Given the description of an element on the screen output the (x, y) to click on. 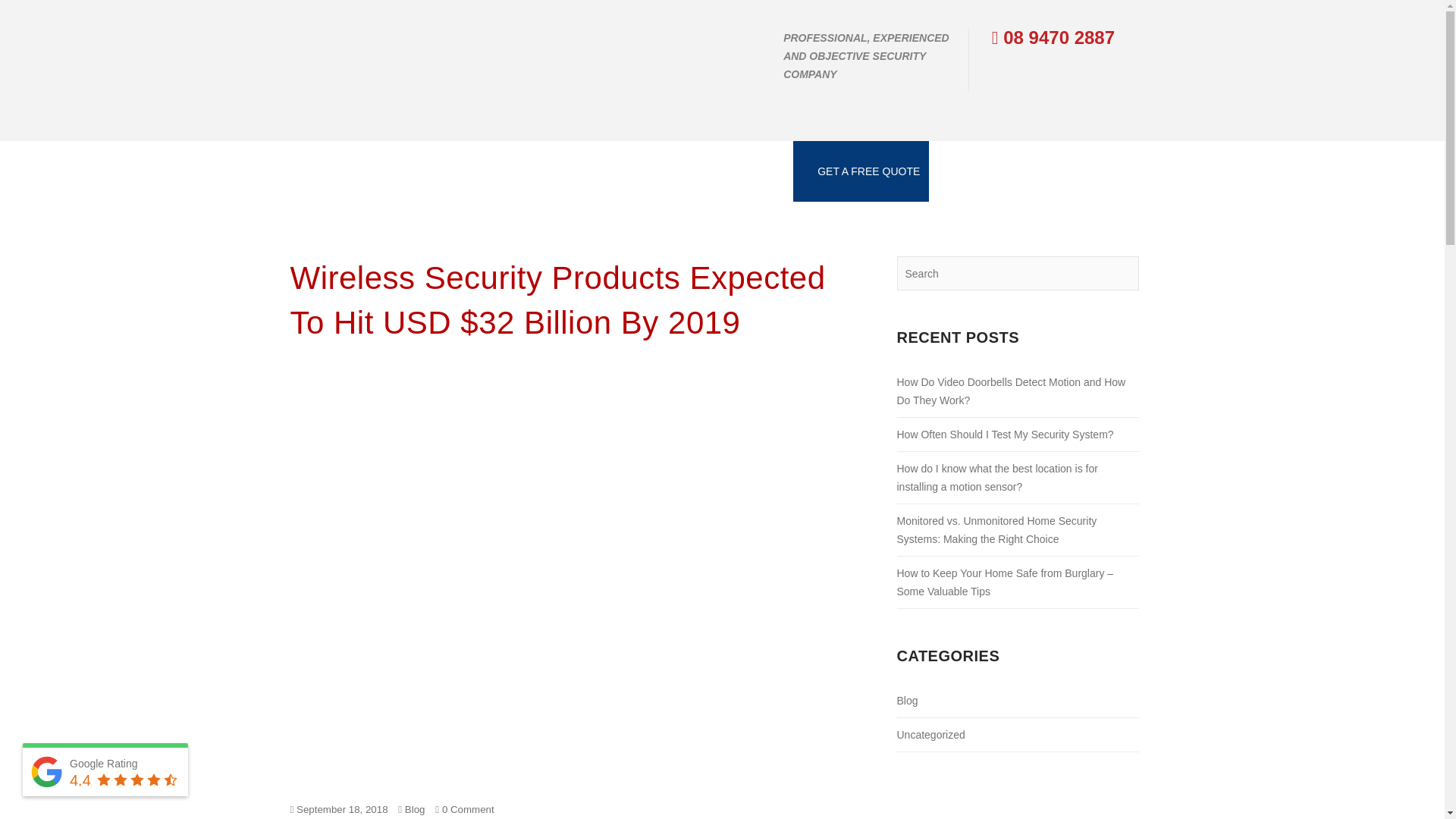
08 9470 2887 (1053, 37)
OUR SERVICES (436, 170)
OUR COMPANY (338, 170)
TUTORIALS (524, 170)
